Given the description of an element on the screen output the (x, y) to click on. 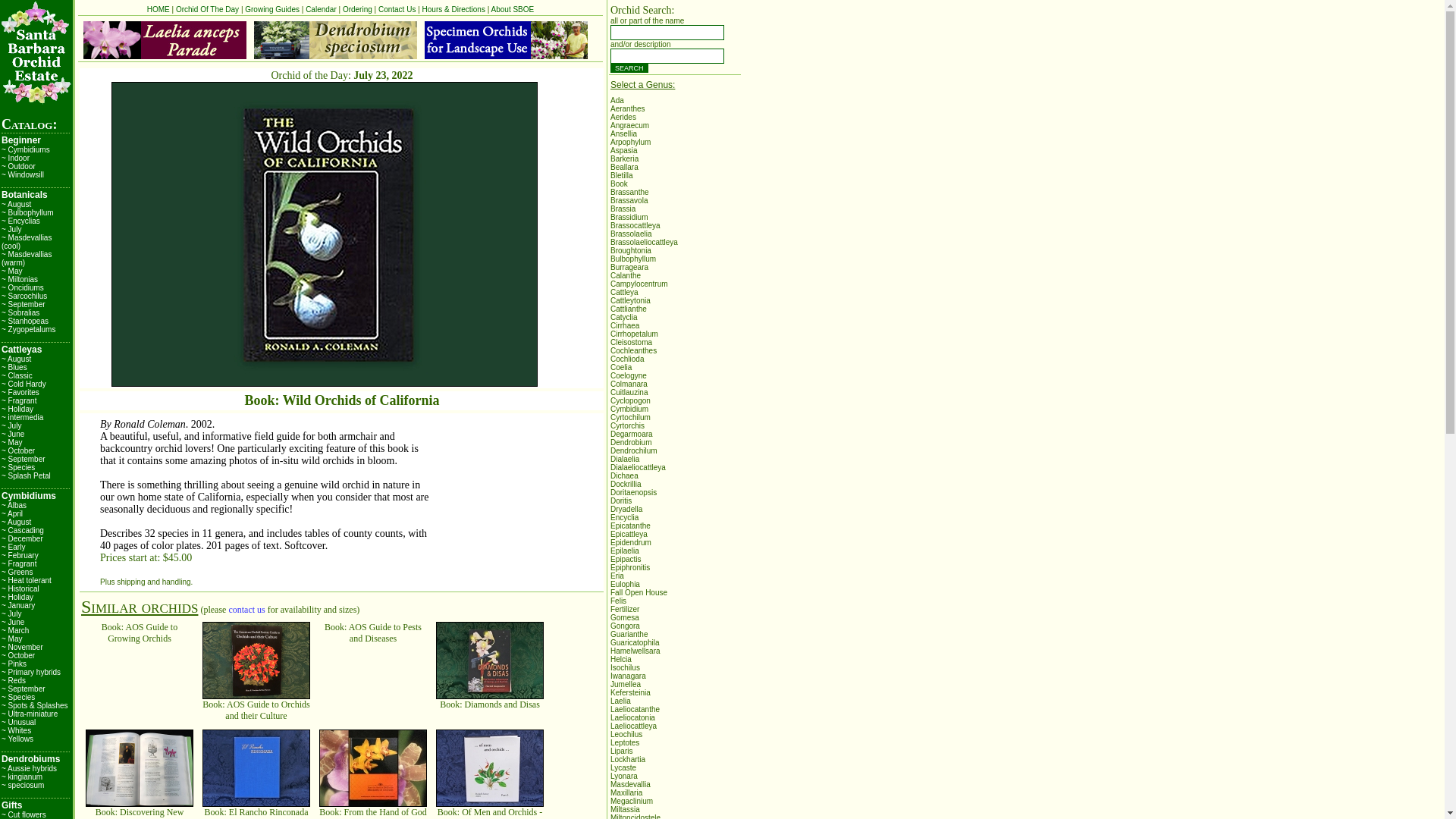
SEARCH (628, 67)
